Given the description of an element on the screen output the (x, y) to click on. 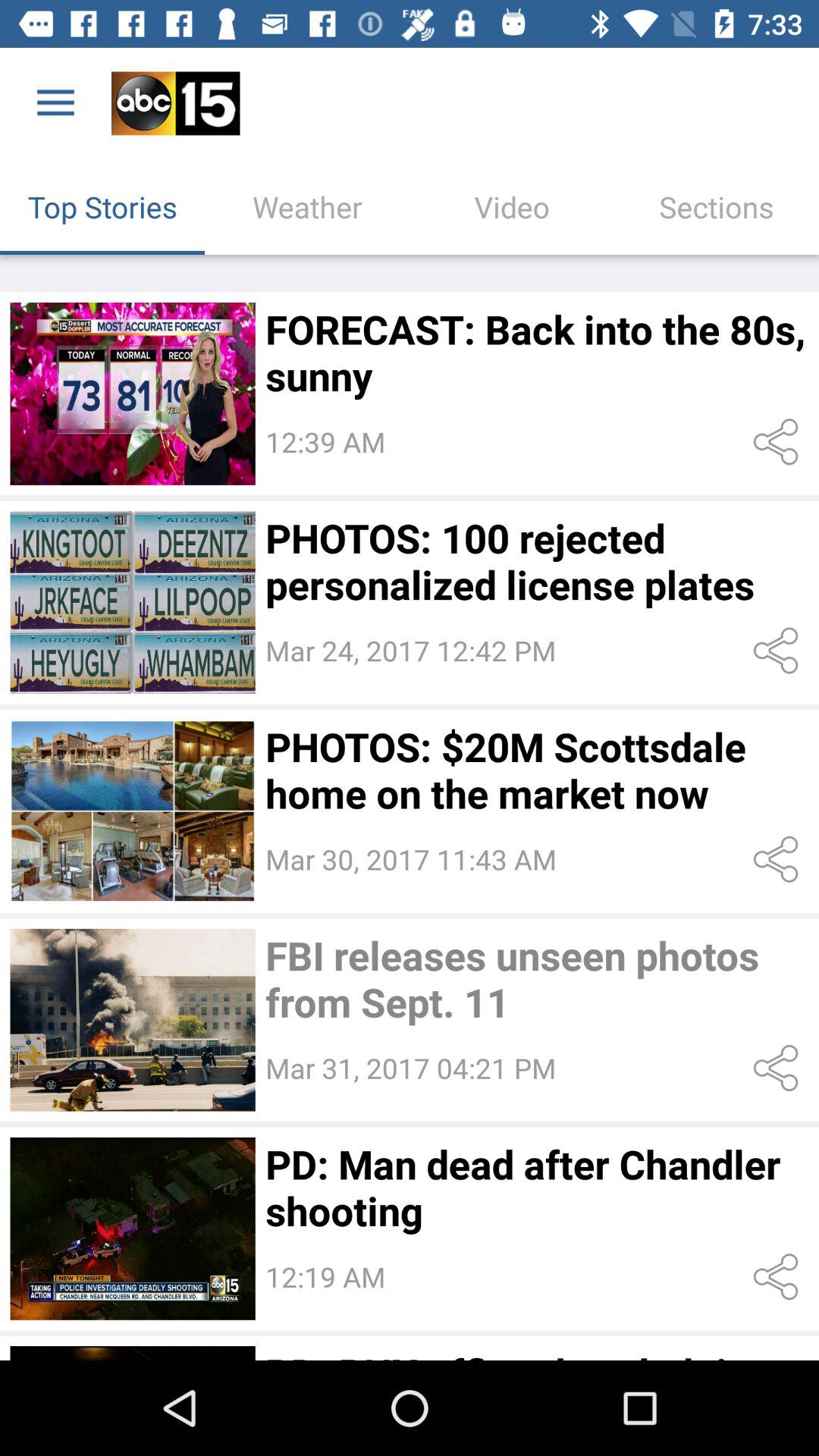
weather image photo (132, 393)
